Given the description of an element on the screen output the (x, y) to click on. 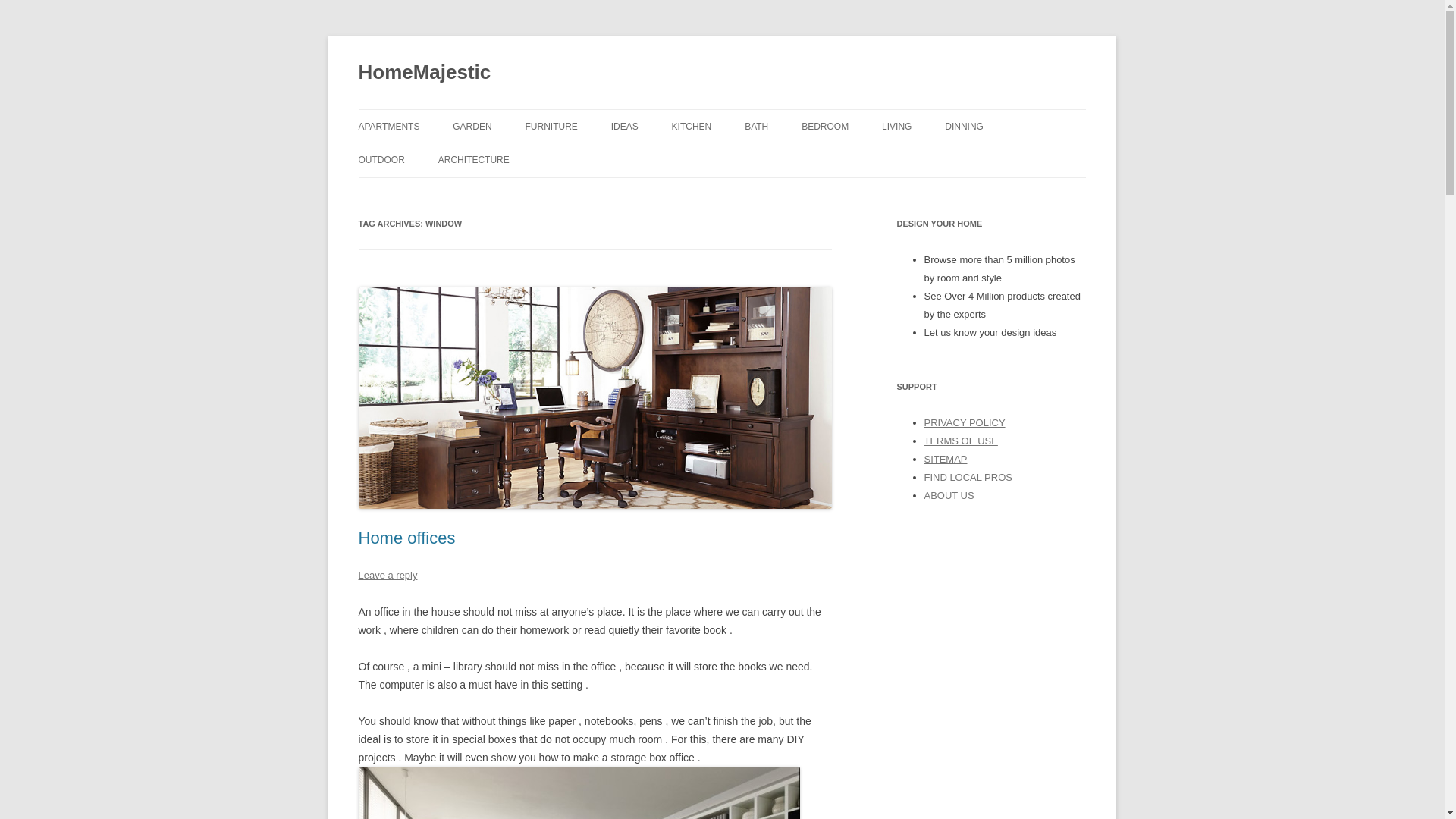
GARDEN (472, 126)
ABOUT US (948, 495)
DINNING (964, 126)
PRIVACY POLICY (963, 422)
SITEMAP (944, 459)
HomeMajestic (424, 72)
FURNITURE (550, 126)
KITCHEN (691, 126)
BEDROOM (825, 126)
APARTMENTS (388, 126)
OUTDOOR (381, 159)
Leave a reply (387, 574)
FIND LOCAL PROS (967, 477)
